Given the description of an element on the screen output the (x, y) to click on. 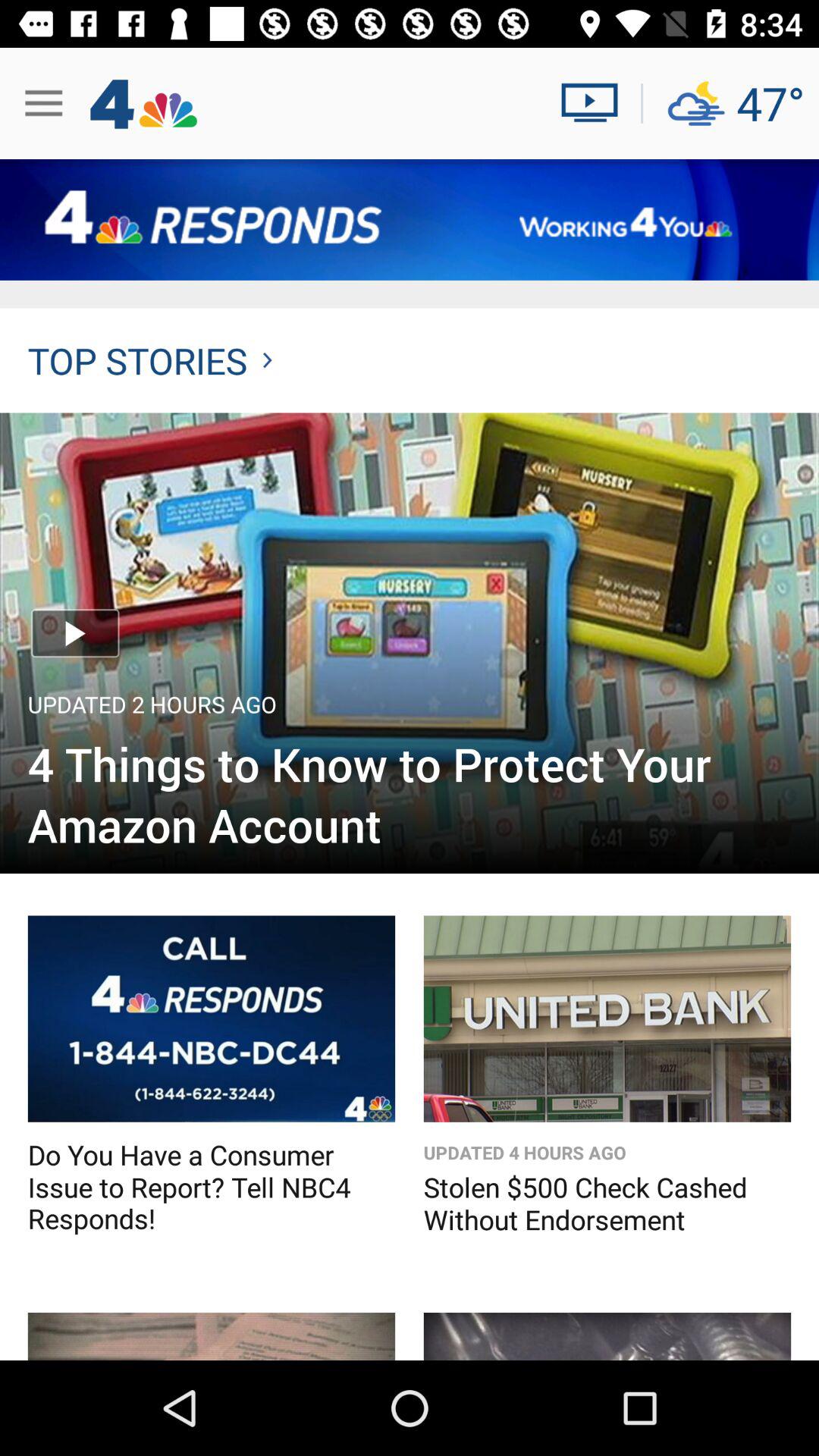
play news (595, 103)
